Given the description of an element on the screen output the (x, y) to click on. 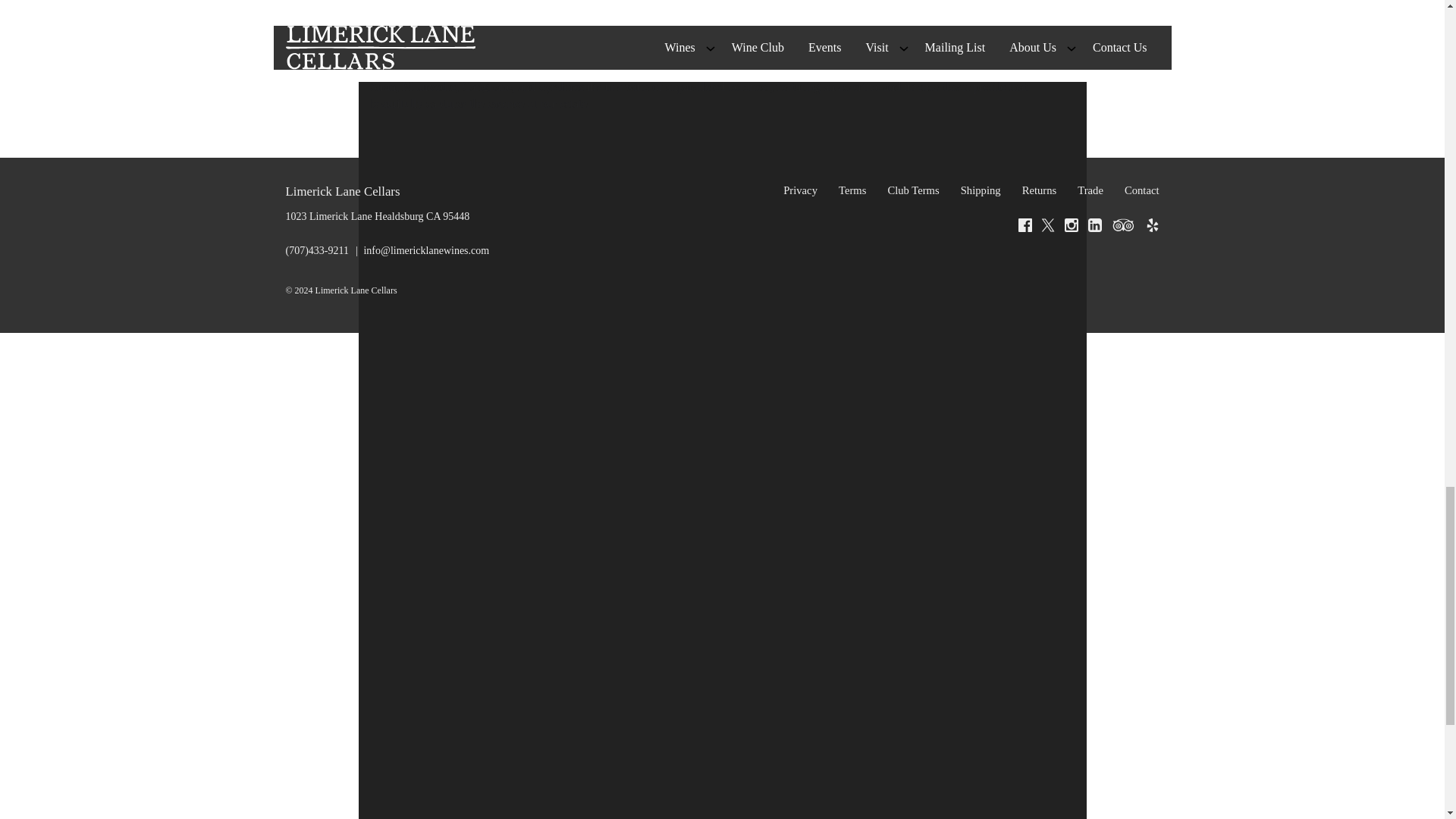
Club Terms (912, 190)
Contact (1138, 190)
Returns (1039, 190)
1023 Limerick Lane Healdsburg CA 95448 (376, 215)
Terms (852, 190)
Trade (1090, 190)
Shipping (981, 190)
Privacy (800, 190)
